Given the description of an element on the screen output the (x, y) to click on. 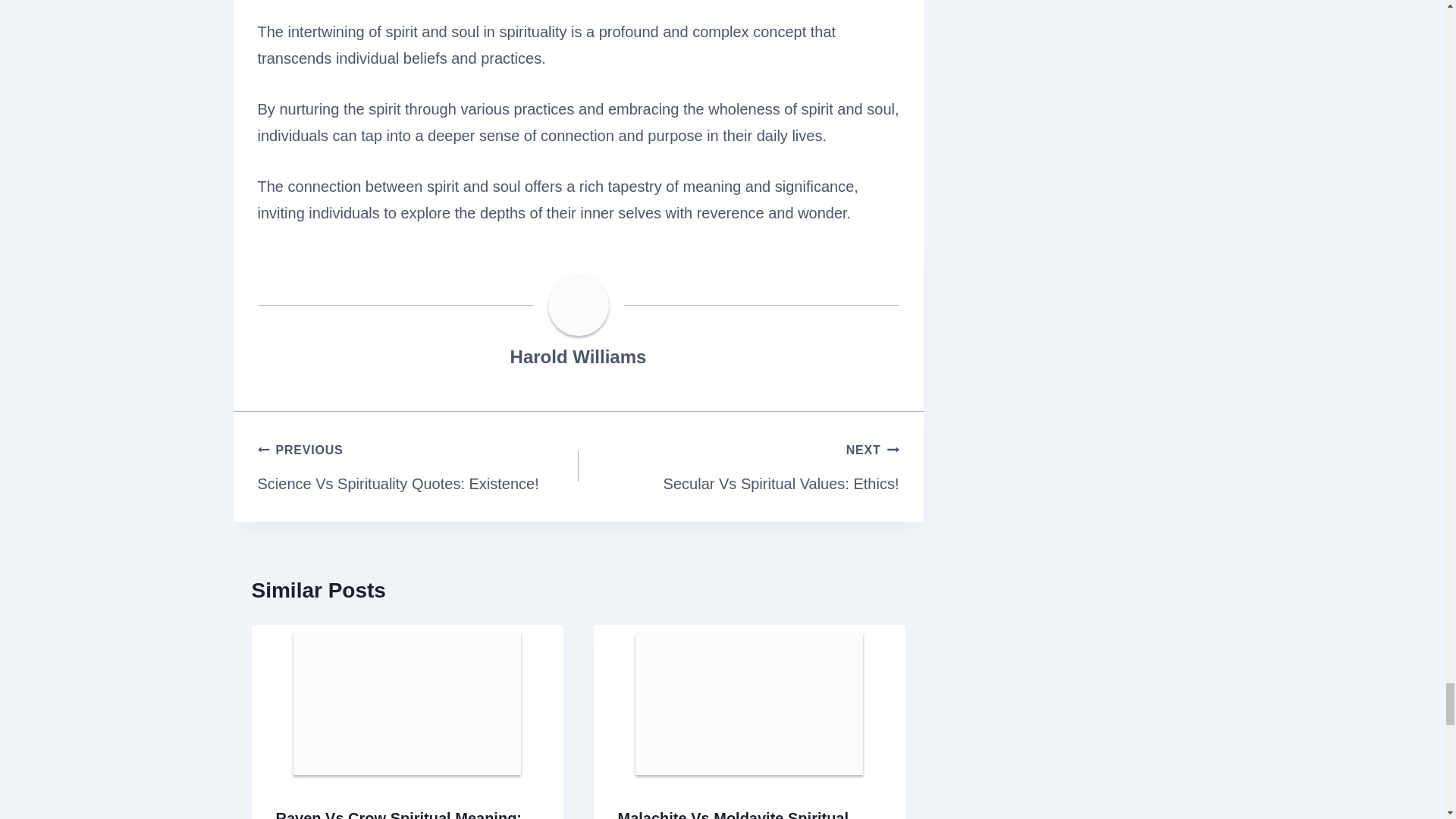
Harold Williams (578, 356)
